Given the description of an element on the screen output the (x, y) to click on. 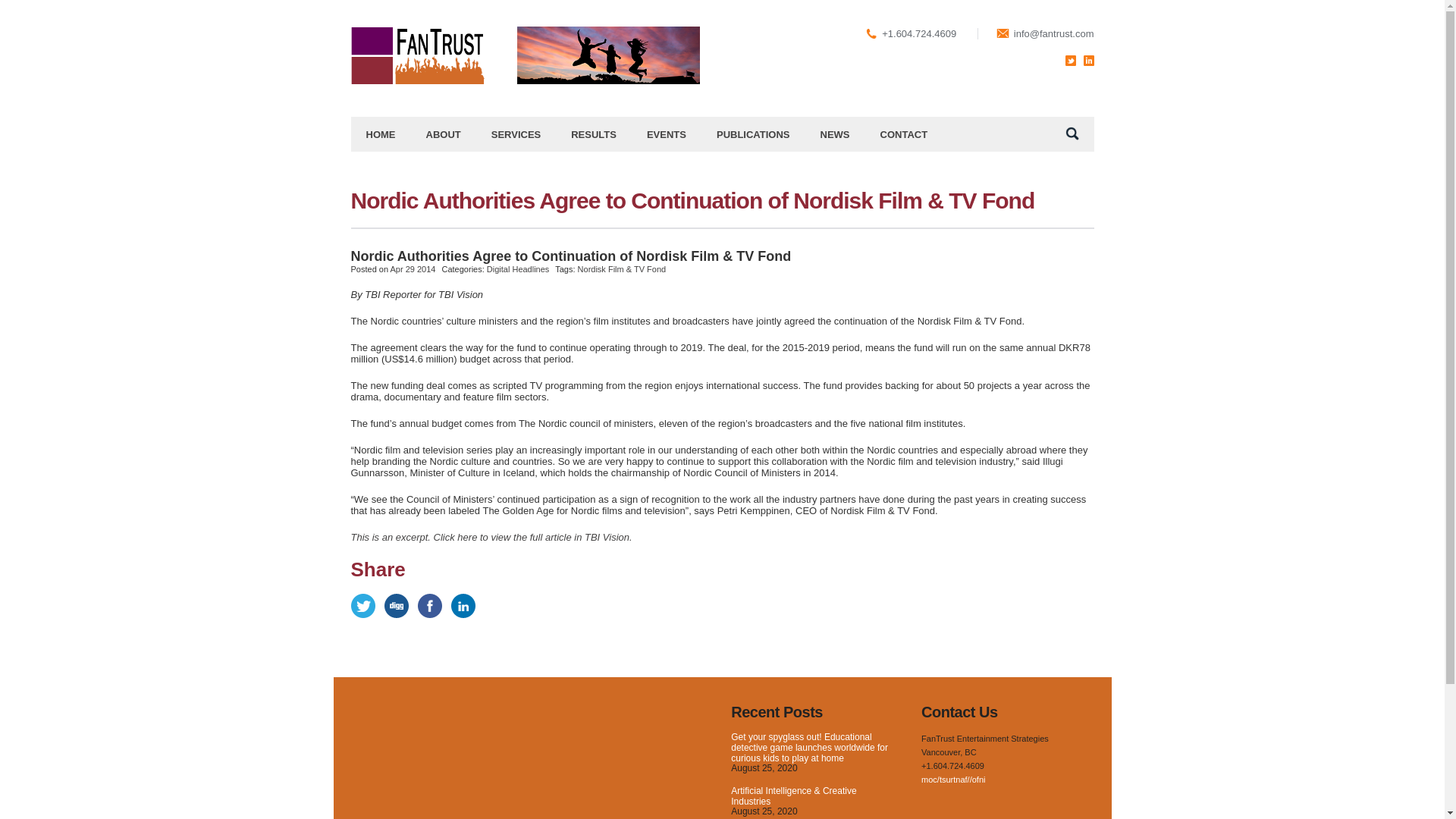
SEARCH (1072, 133)
SERVICES (516, 134)
RESULTS (593, 134)
Tuesday, August 25th, 2020, 2:59 pm (763, 767)
CONTACT (903, 134)
August 25, 2020 (763, 767)
HOME (380, 134)
Apr 29 2014 (412, 268)
ABOUT (443, 134)
August 25, 2020 (763, 810)
